Given the description of an element on the screen output the (x, y) to click on. 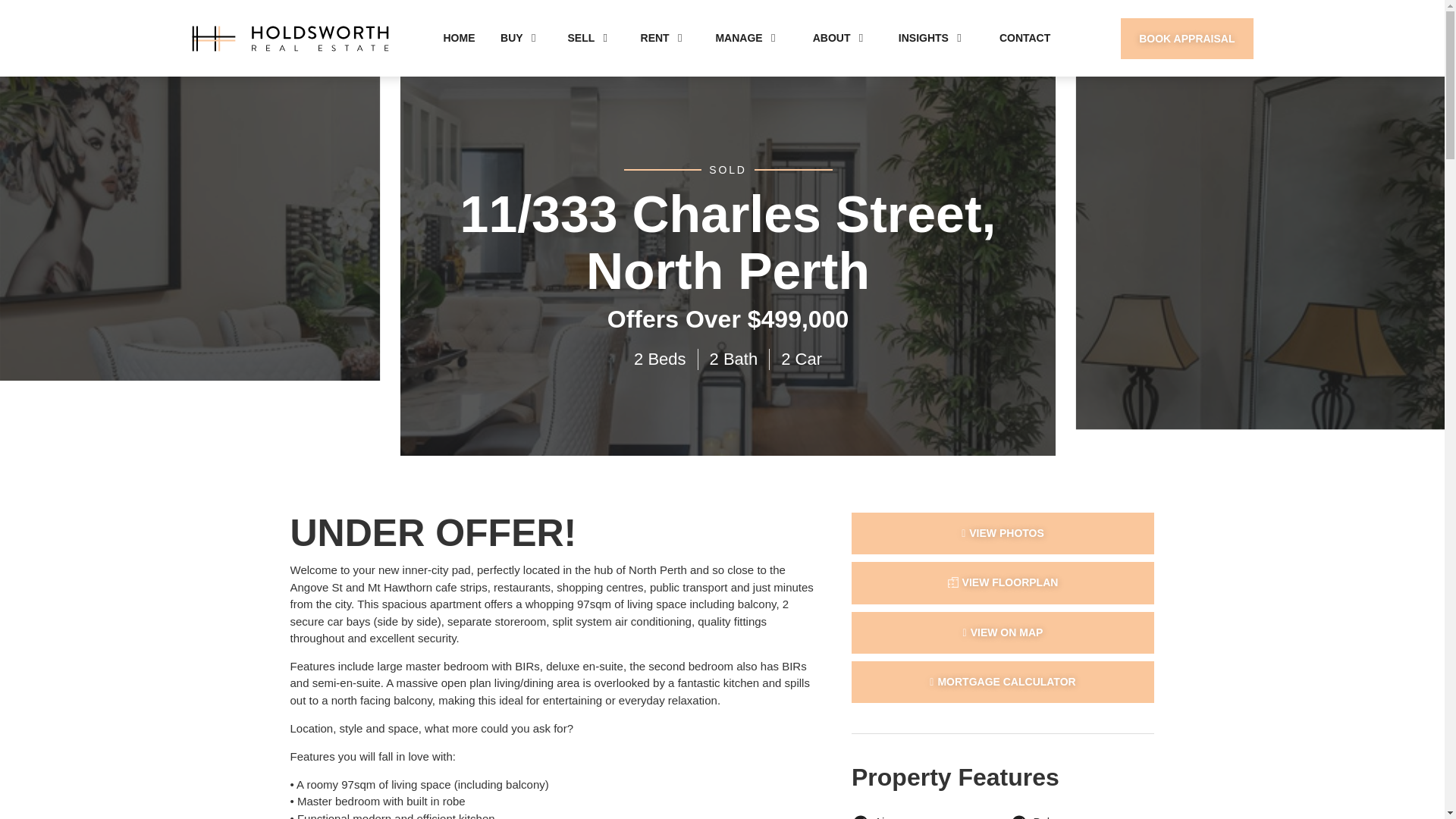
MANAGE (737, 37)
SELL (581, 37)
BOOK APPRAISAL (1186, 38)
RENT (654, 37)
ABOUT (831, 37)
CONTACT (1023, 37)
INSIGHTS (923, 37)
HOME (458, 37)
BUY (511, 37)
